Given the description of an element on the screen output the (x, y) to click on. 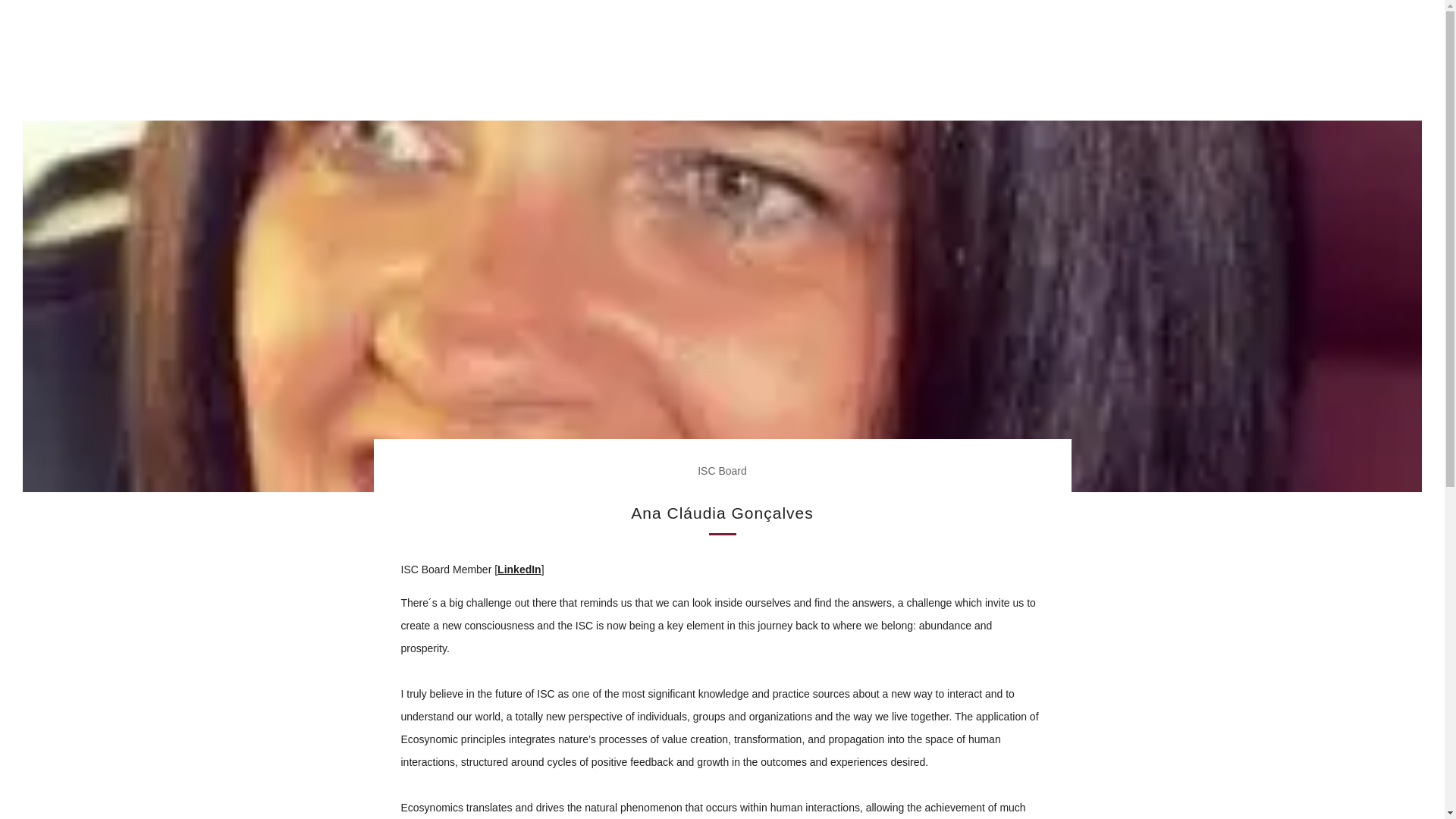
SEARCH (1415, 19)
COURSES (878, 75)
ABOUT (487, 75)
SURVEYS (610, 75)
Show articles tagged ISC Board (721, 470)
EVENTS (936, 75)
LOG IN (1326, 21)
ISC Board (721, 470)
Institute for Strategic Clarity (722, 31)
CONTACT (994, 75)
HOME (441, 75)
LinkedIn (519, 569)
RESEARCH (545, 75)
PEOPLE (771, 75)
BOOKS (823, 75)
